Given the description of an element on the screen output the (x, y) to click on. 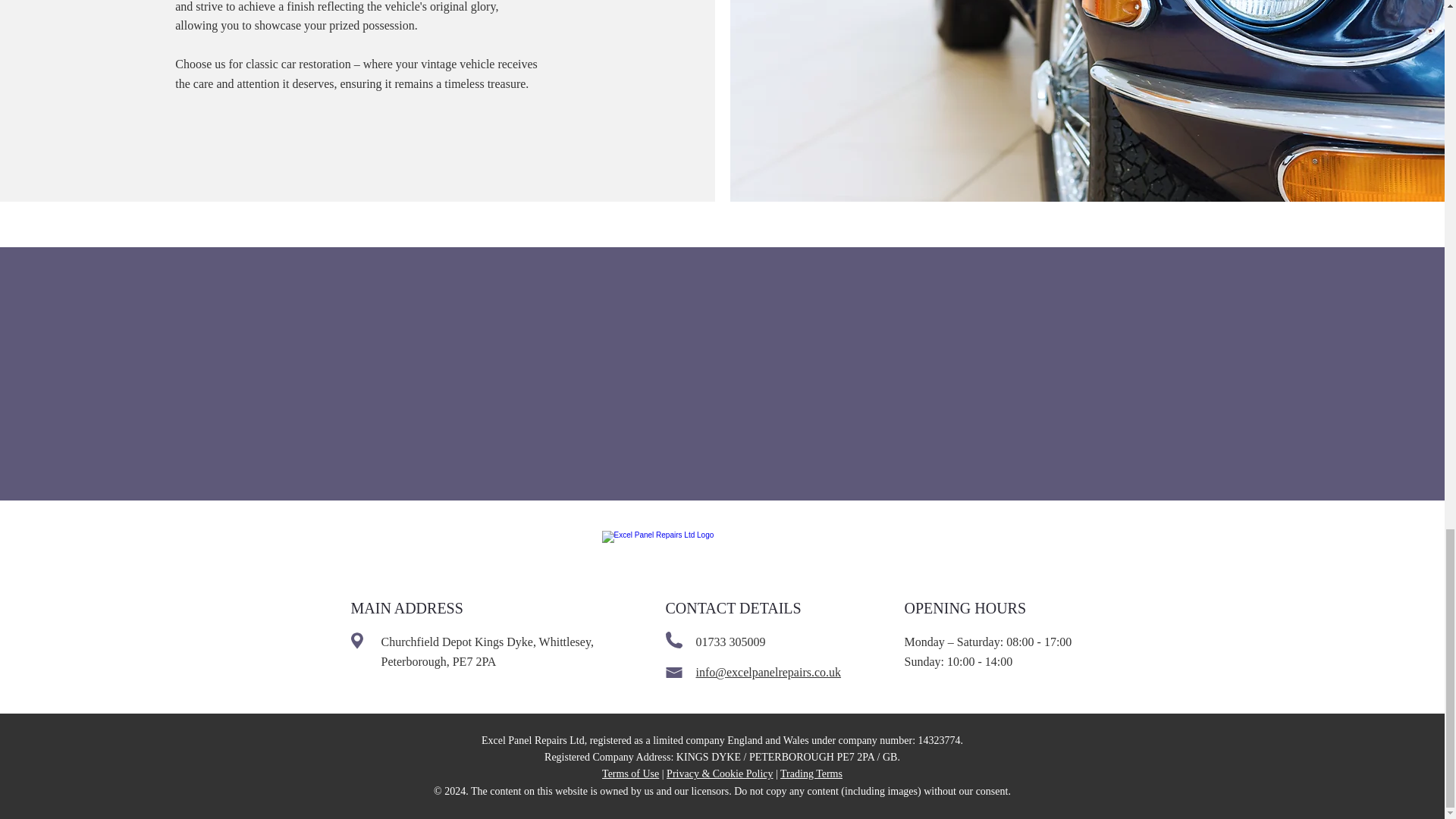
Trading Terms (811, 773)
Terms of Use (630, 773)
